Given the description of an element on the screen output the (x, y) to click on. 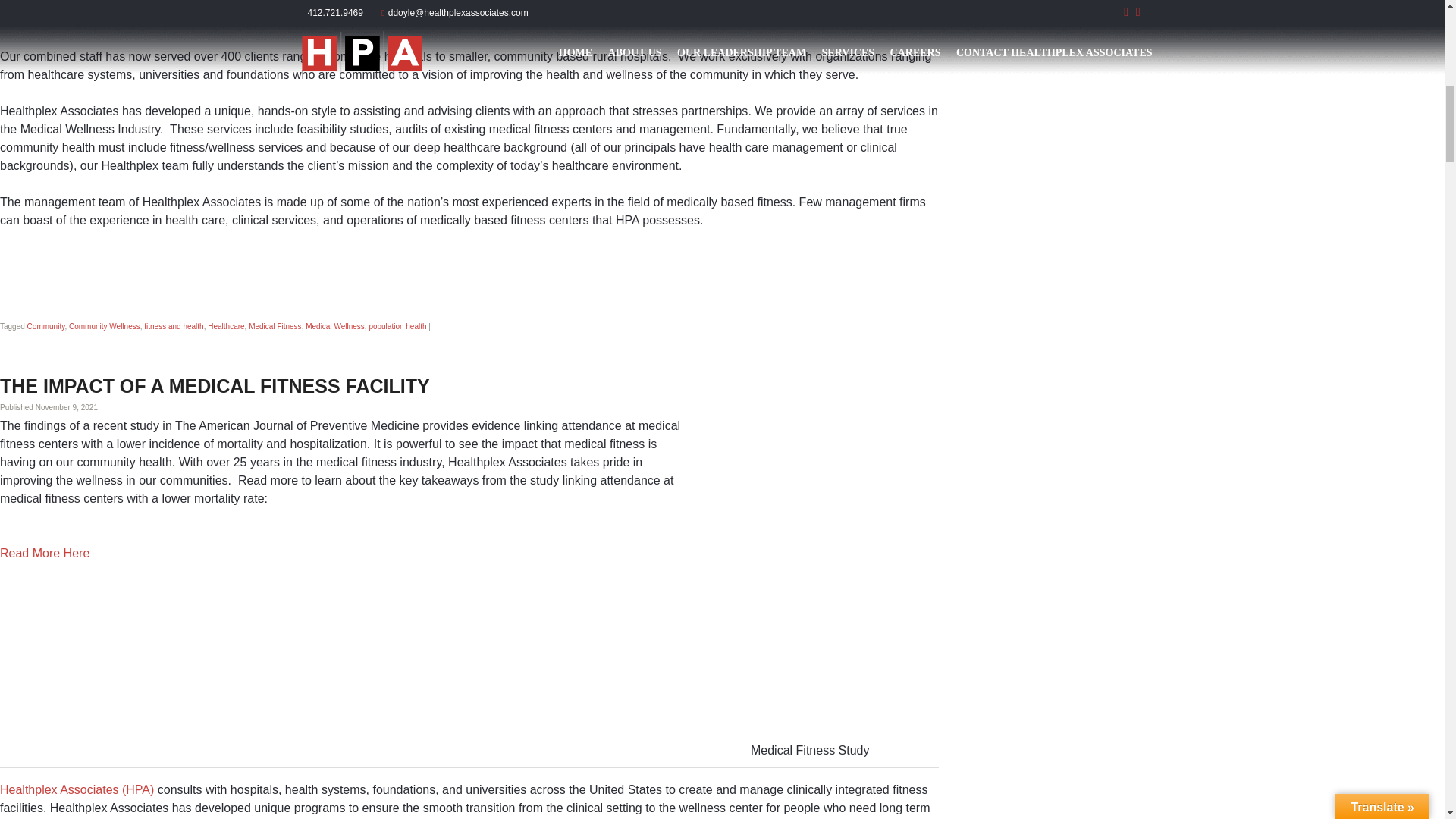
Permalink to The Impact of a Medical Fitness Facility (214, 385)
fitness and health (173, 326)
population health (397, 326)
Community (46, 326)
Community Wellness (103, 326)
Medical Fitness (274, 326)
THE IMPACT OF A MEDICAL FITNESS FACILITY (214, 385)
Healthcare (226, 326)
Medical Wellness (335, 326)
Read More Here  (46, 553)
